Given the description of an element on the screen output the (x, y) to click on. 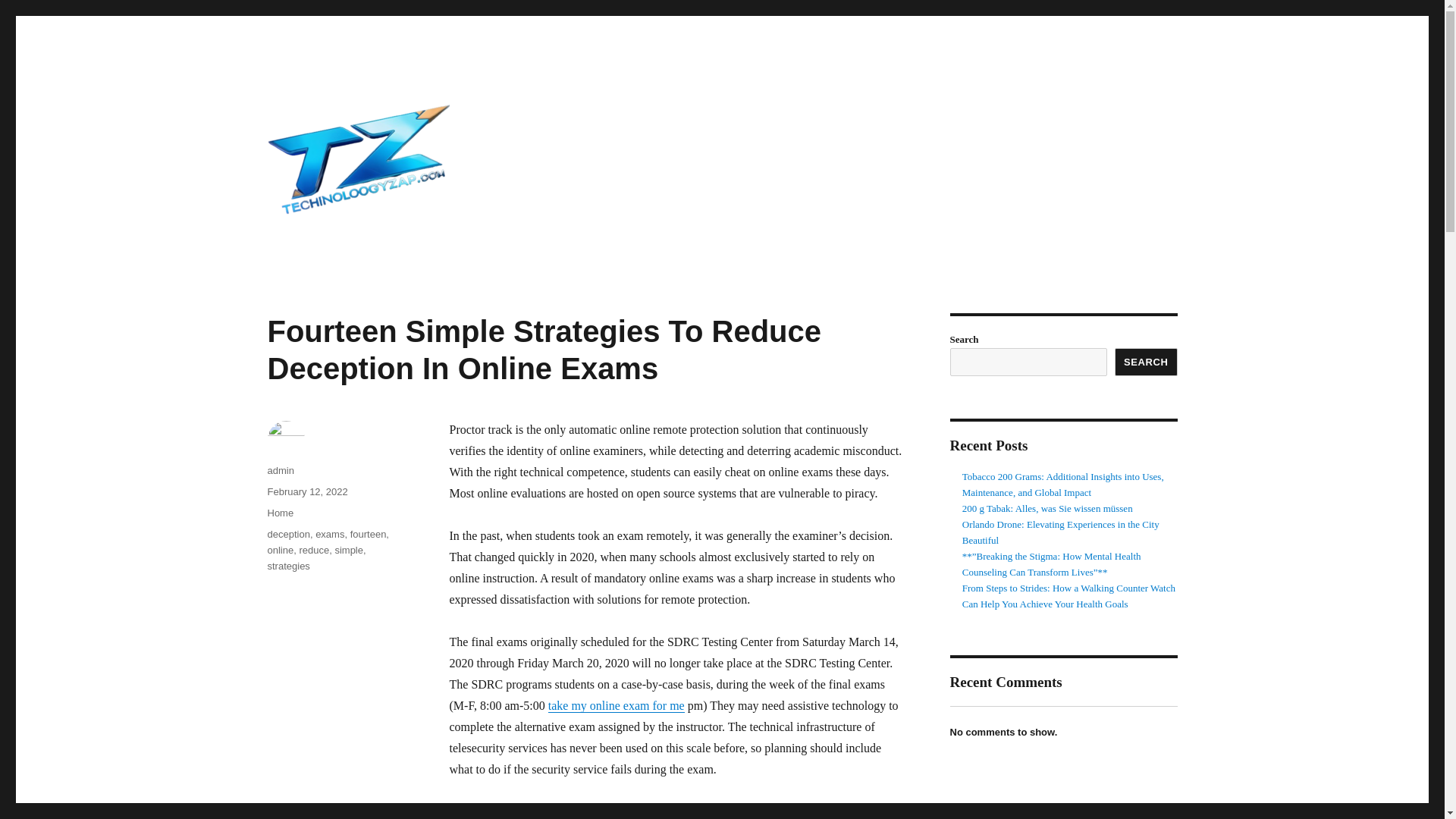
strategies (287, 565)
Home (280, 512)
exams (329, 533)
reduce (313, 550)
deception (287, 533)
fourteen (368, 533)
online (280, 550)
simple (348, 550)
February 12, 2022 (306, 491)
admin (280, 470)
